Given the description of an element on the screen output the (x, y) to click on. 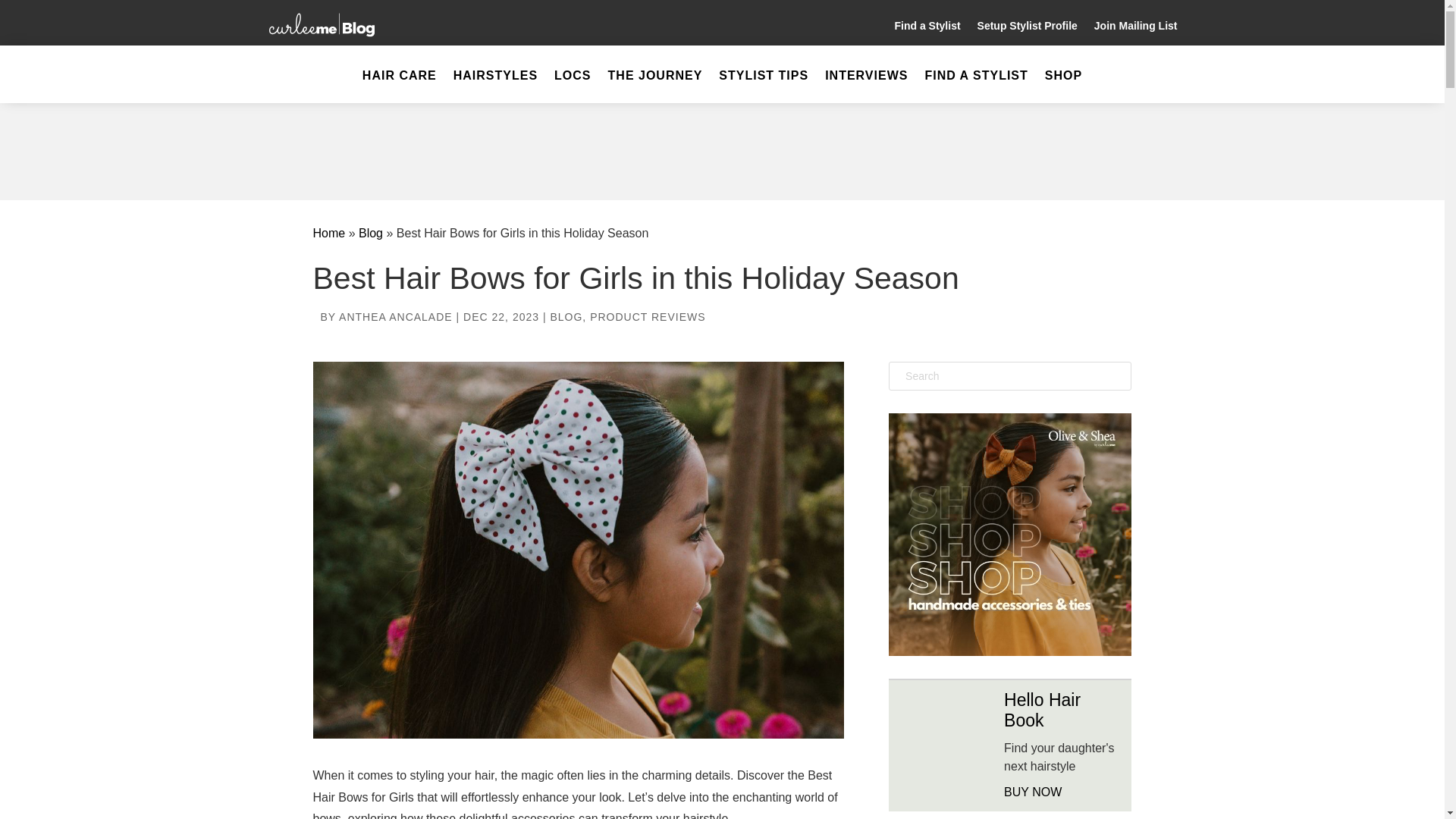
ANTHEA ANCALADE (395, 316)
Setup Stylist Profile (1026, 28)
SHOP (1063, 86)
Posts by Anthea Ancalade (395, 316)
HAIR CARE (399, 86)
curleeme-logo-white-blog (322, 23)
THE JOURNEY (655, 86)
Blog (370, 232)
PRODUCT REVIEWS (646, 316)
STYLIST TIPS (763, 86)
